Given the description of an element on the screen output the (x, y) to click on. 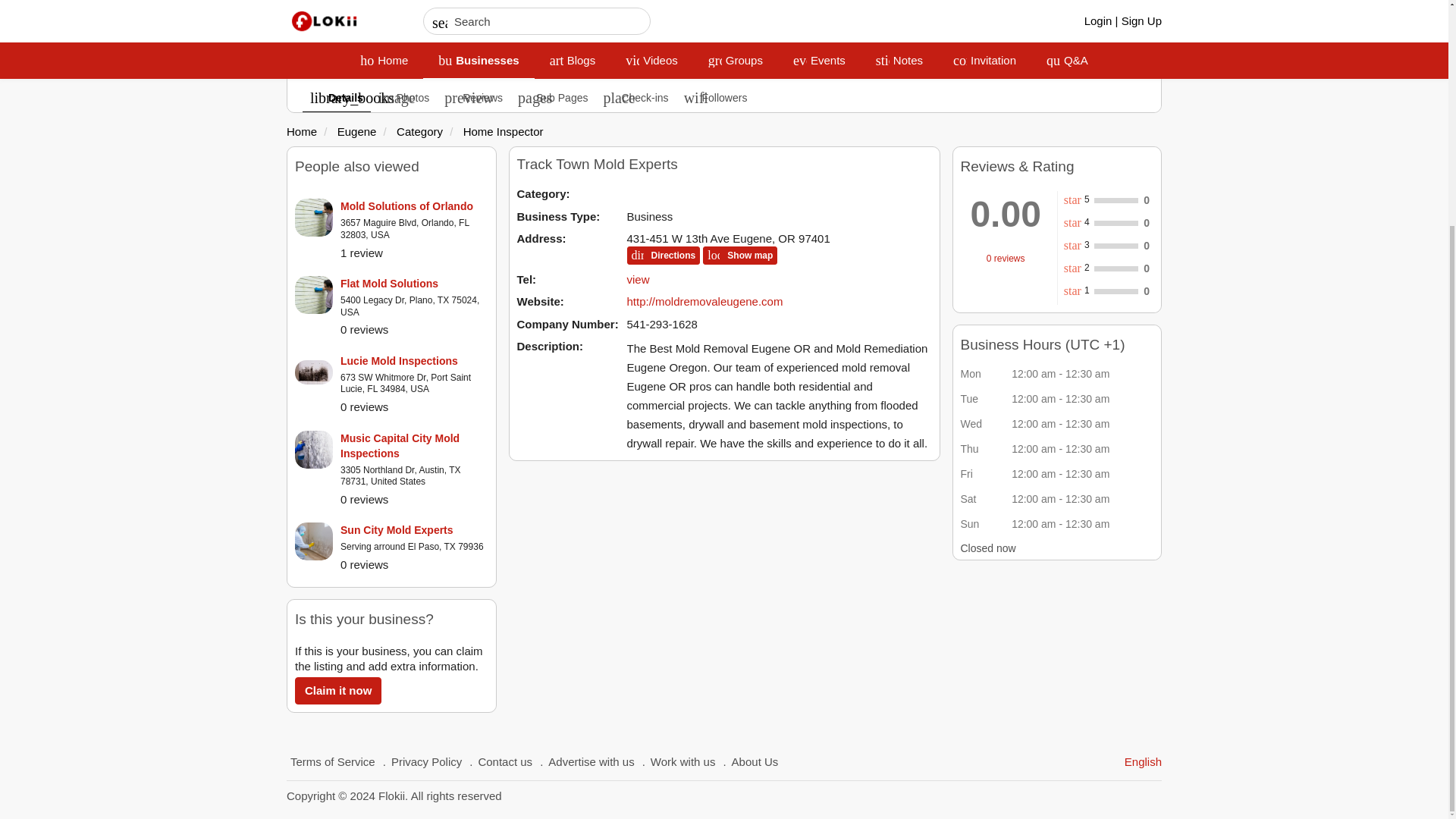
Flat Mold Solutions (413, 283)
pages Sub Pages (553, 96)
image Photos (403, 96)
Mold Solutions of Orlando (413, 206)
wifi Followers (716, 96)
unpublished (607, 20)
Music Capital City Mold Inspections (413, 445)
favorite (659, 20)
Unverified (607, 21)
0 Followers (773, 38)
Add to favorite (659, 20)
Lucie Mold Inspections (413, 360)
preview Reviews (473, 96)
Home (301, 131)
place Check-ins (635, 96)
